Given the description of an element on the screen output the (x, y) to click on. 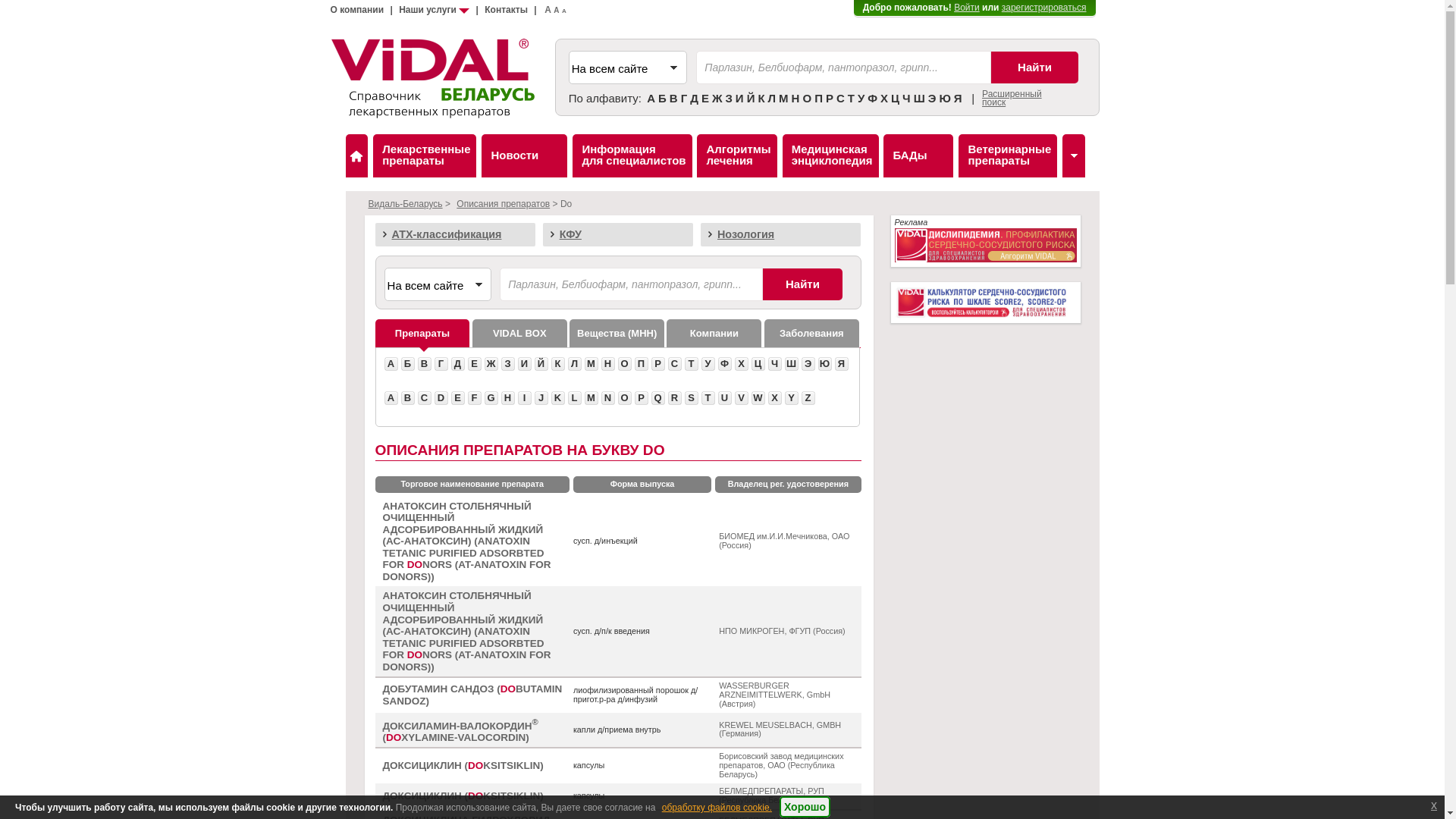
A Element type: text (547, 9)
L Element type: text (573, 397)
Z Element type: text (807, 397)
B Element type: text (407, 397)
V Element type: text (740, 397)
D Element type: text (440, 397)
I Element type: text (523, 397)
K Element type: text (557, 397)
x Element type: text (1433, 805)
F Element type: text (473, 397)
X Element type: text (774, 397)
A Element type: text (390, 397)
G Element type: text (490, 397)
N Element type: text (607, 397)
E Element type: text (457, 397)
U Element type: text (724, 397)
Q Element type: text (657, 397)
J Element type: text (540, 397)
VIDAL BOX Element type: text (519, 333)
A Element type: text (555, 10)
O Element type: text (623, 397)
M Element type: text (590, 397)
H Element type: text (507, 397)
T Element type: text (707, 397)
A Element type: text (563, 10)
S Element type: text (690, 397)
W Element type: text (757, 397)
R Element type: text (673, 397)
P Element type: text (640, 397)
Y Element type: text (790, 397)
C Element type: text (423, 397)
